Given the description of an element on the screen output the (x, y) to click on. 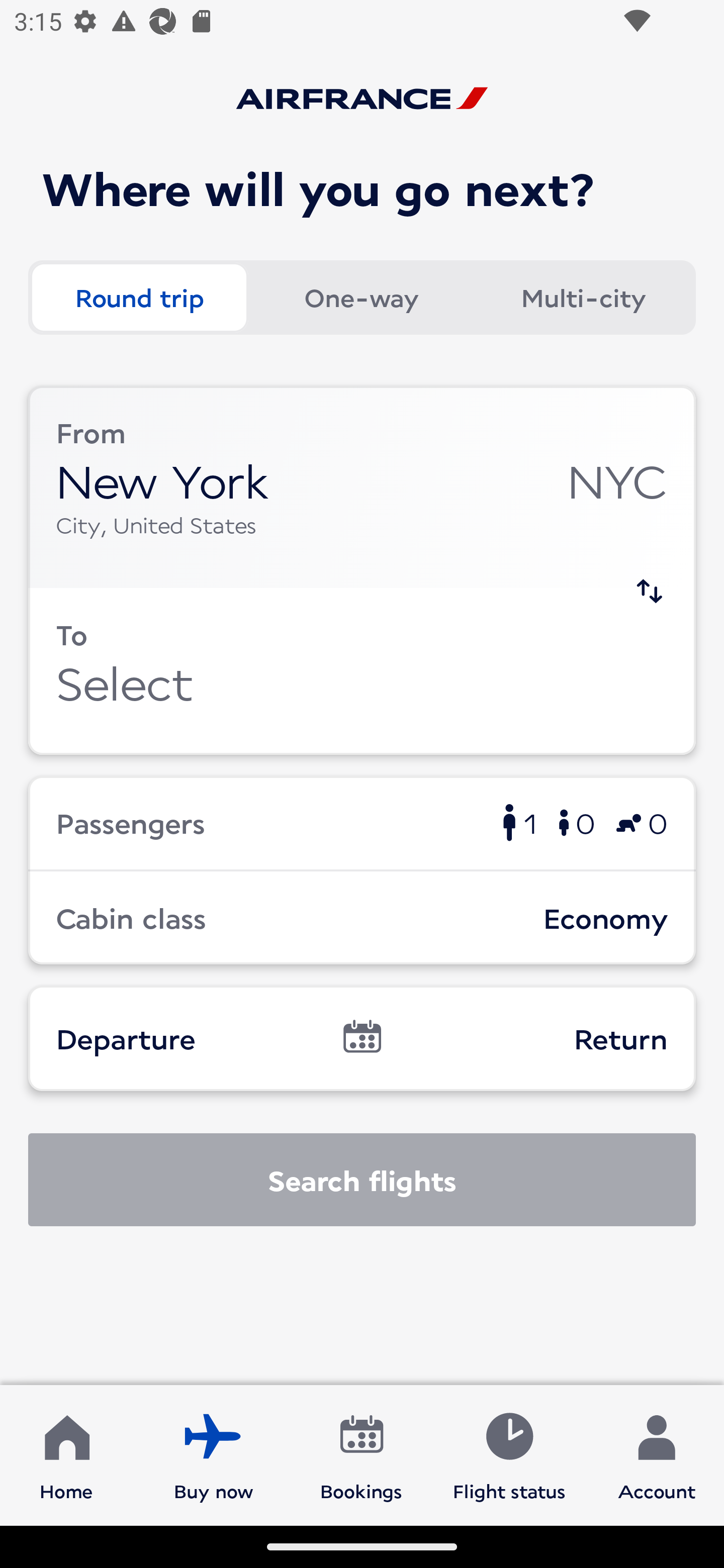
Round trip (139, 297)
One-way (361, 297)
Multi-city (583, 297)
From New York NYC City, United States (361, 486)
To Select (361, 671)
Passengers 1 0 0 (361, 822)
Cabin class Economy (361, 917)
Departure Return (361, 1038)
Search flights (361, 1179)
Home (66, 1454)
Bookings (361, 1454)
Flight status (509, 1454)
Account (657, 1454)
